Given the description of an element on the screen output the (x, y) to click on. 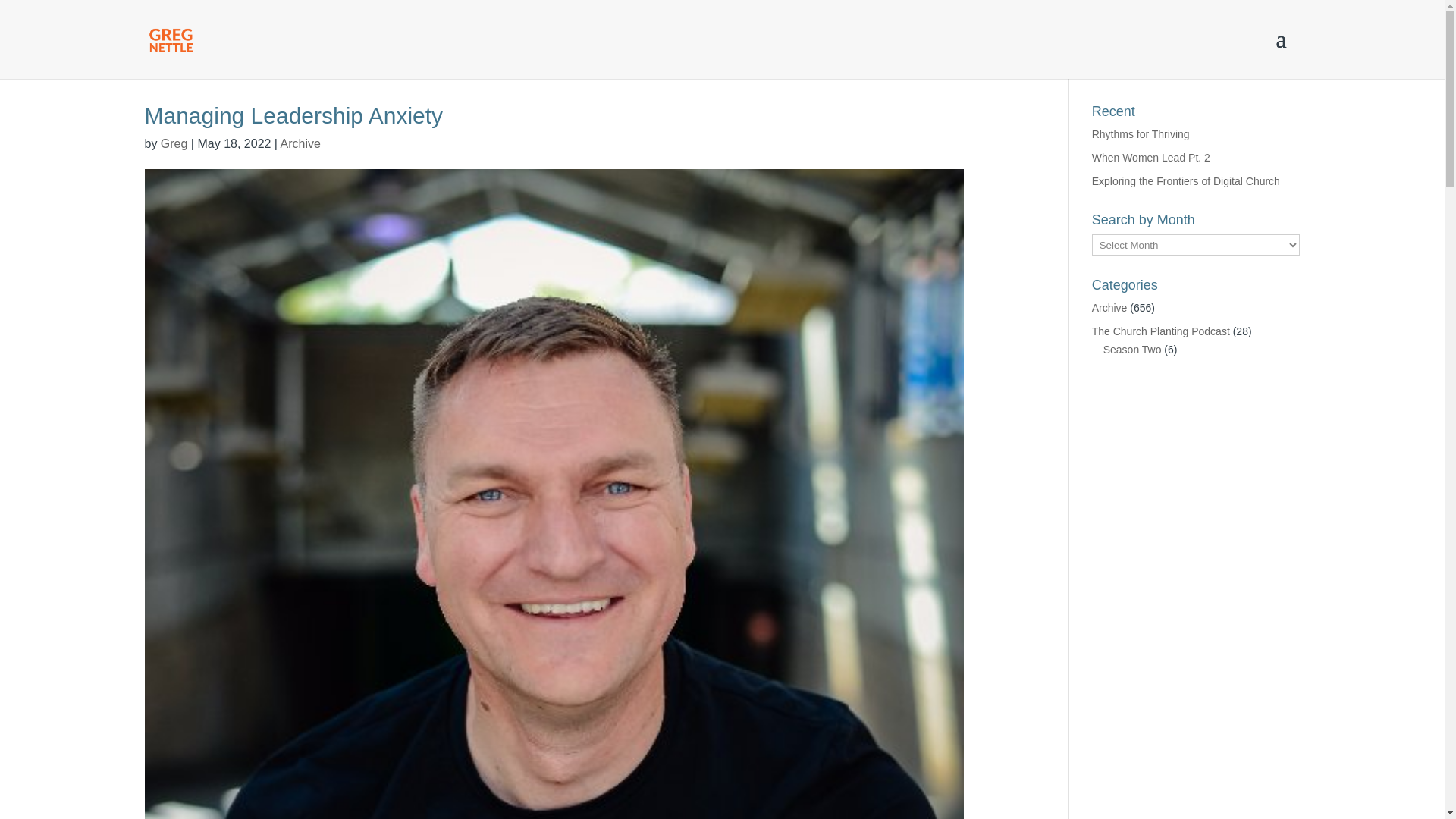
Posts by Greg (173, 143)
Season Two (1132, 349)
Archive (300, 143)
When Women Lead Pt. 2 (1150, 157)
Rhythms for Thriving (1140, 133)
The Church Planting Podcast (1161, 331)
Greg (173, 143)
Archive (1109, 307)
Exploring the Frontiers of Digital Church (1185, 181)
